Given the description of an element on the screen output the (x, y) to click on. 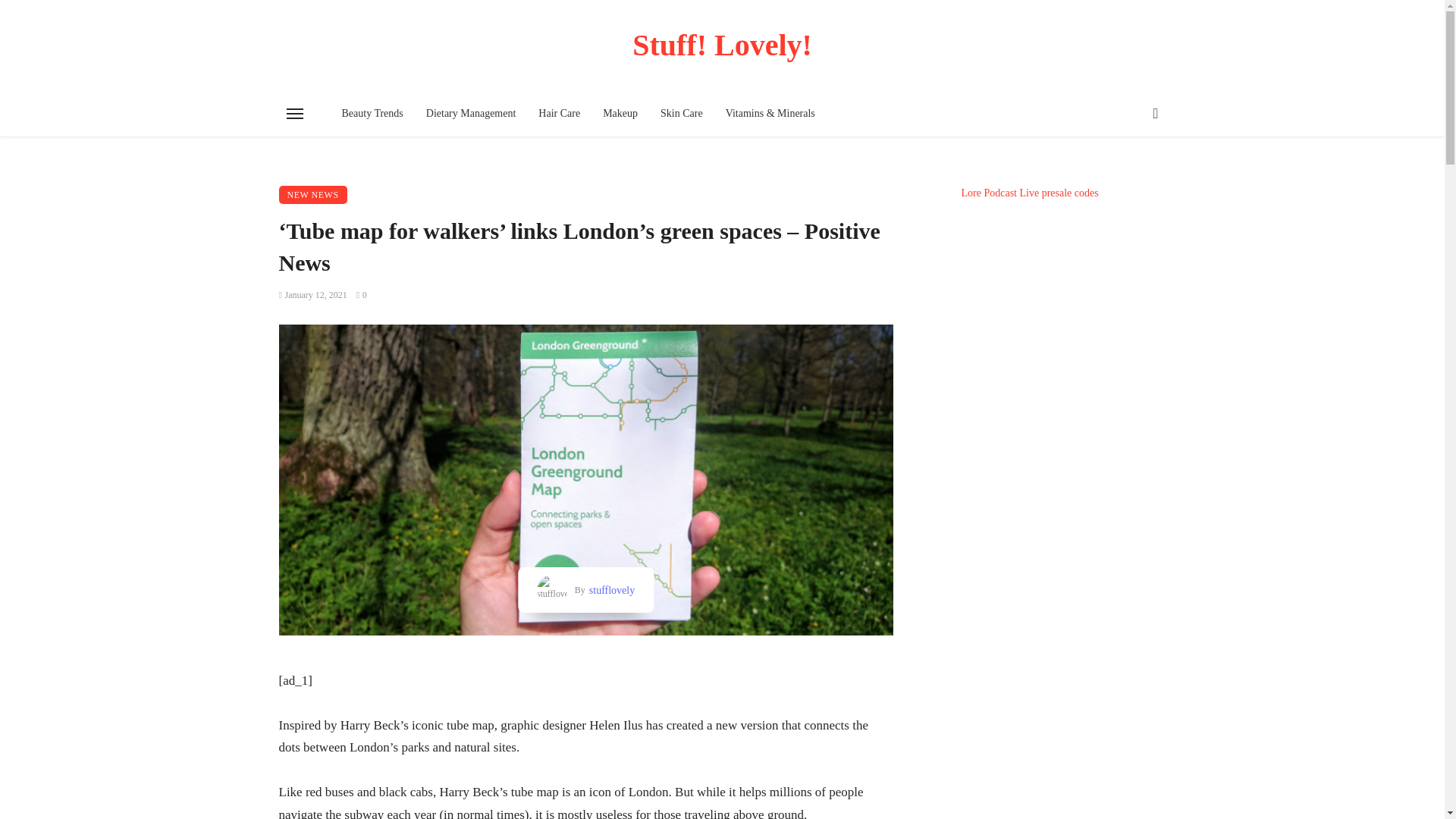
Skin Care (681, 113)
Posts by stufflovely (609, 590)
0 Comments (361, 294)
Stuff! Lovely! (722, 45)
0 (361, 294)
stufflovely (609, 590)
Hair Care (559, 113)
Makeup (620, 113)
Beauty Trends (372, 113)
NEW NEWS (313, 194)
Dietary Management (470, 113)
January 12, 2021 at 6:22 pm (313, 294)
